Given the description of an element on the screen output the (x, y) to click on. 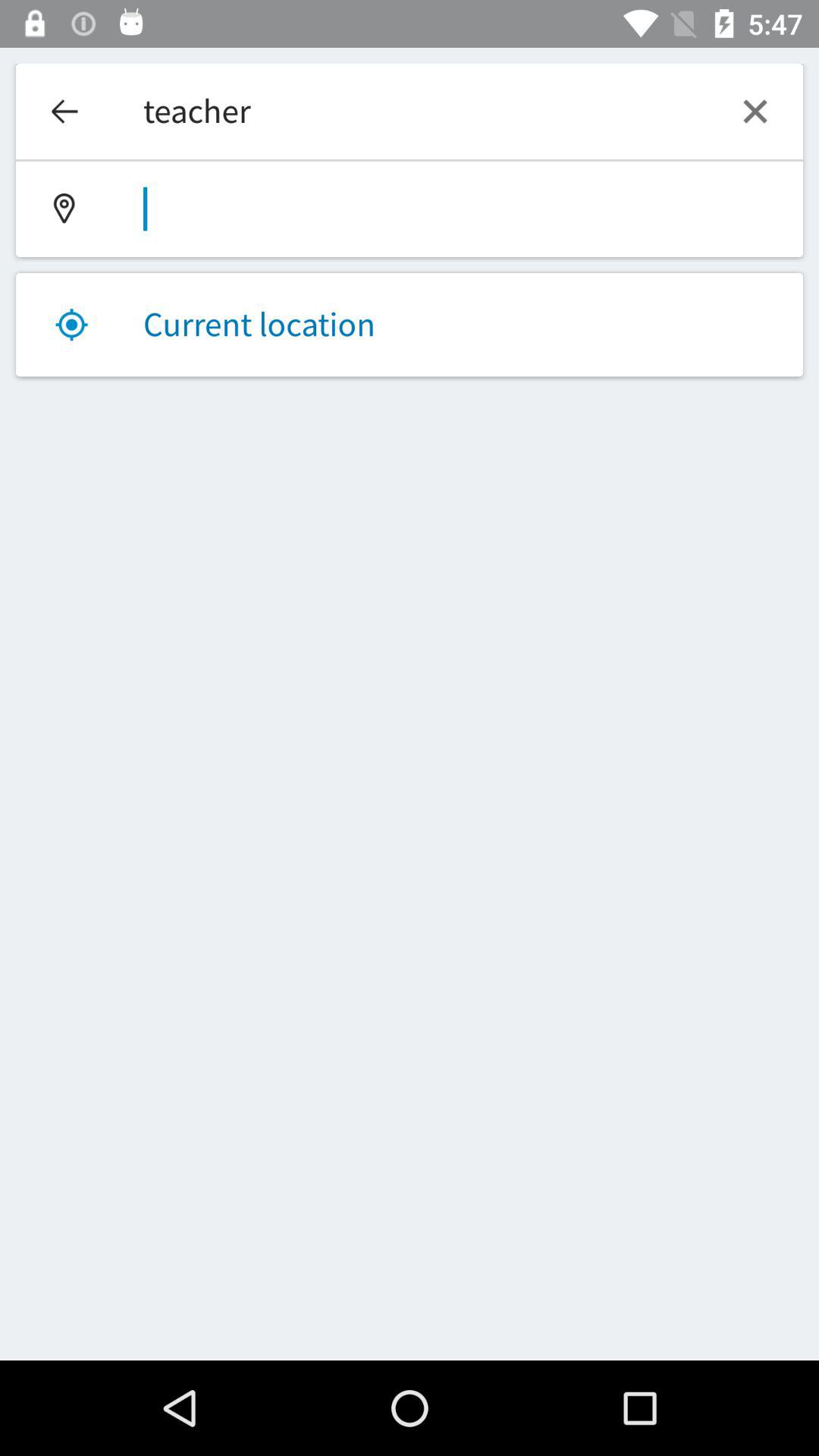
open the teacher (409, 111)
